Given the description of an element on the screen output the (x, y) to click on. 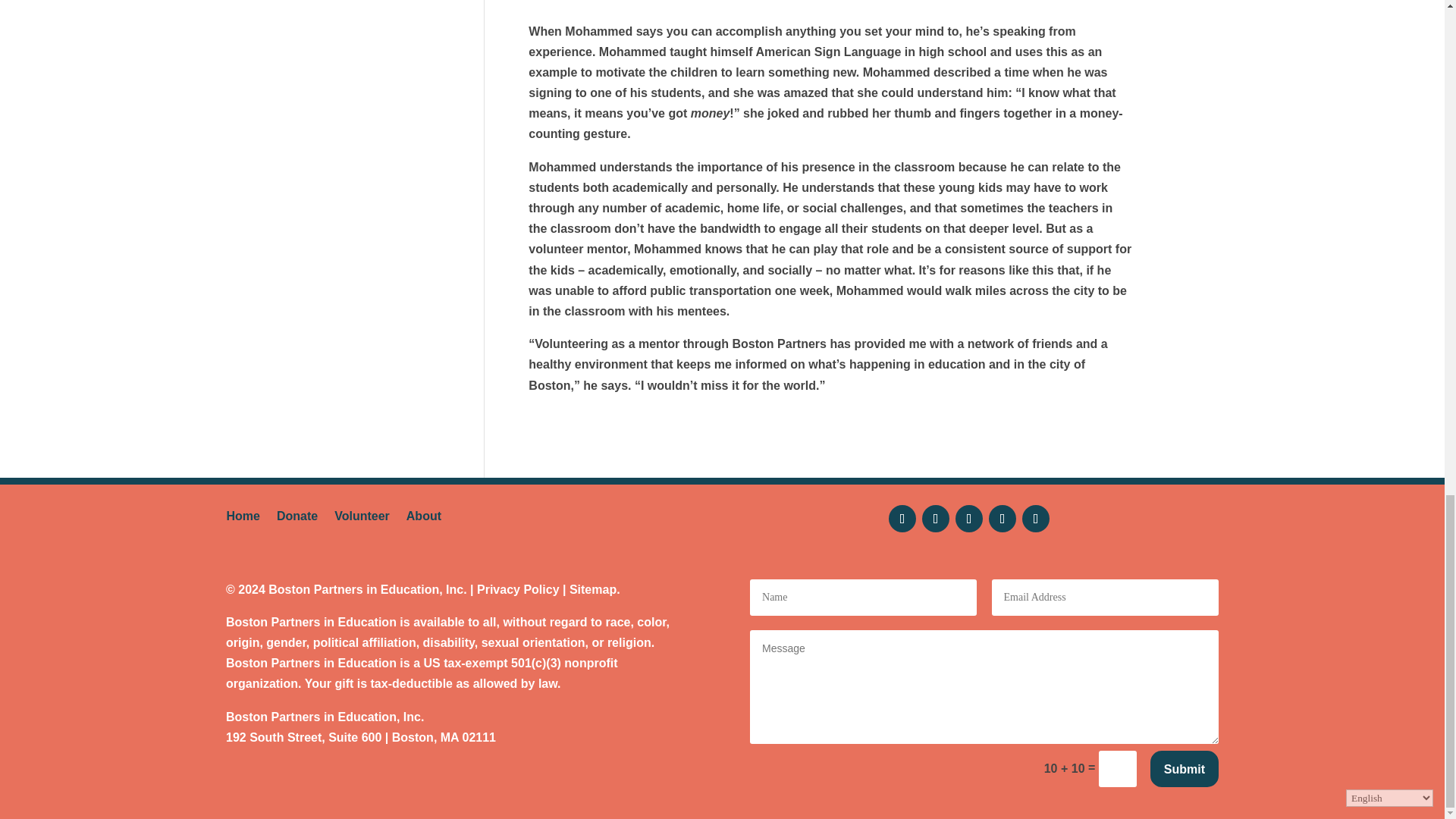
Follow on Instagram (968, 518)
Follow on LinkedIn (1035, 518)
Follow on Facebook (901, 518)
Follow on X (935, 518)
Follow on Youtube (1002, 518)
